Given the description of an element on the screen output the (x, y) to click on. 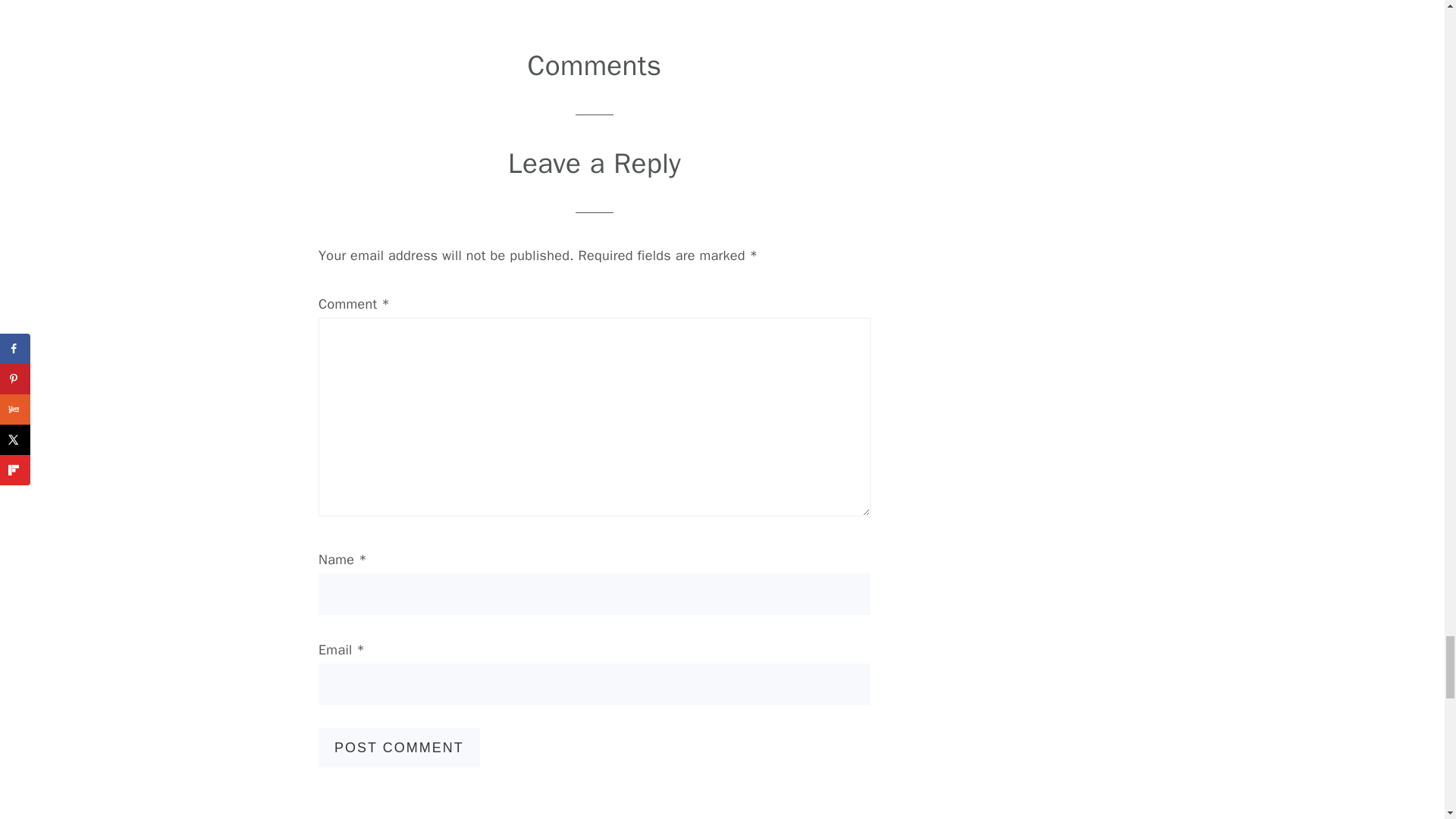
Post Comment (399, 747)
